Given the description of an element on the screen output the (x, y) to click on. 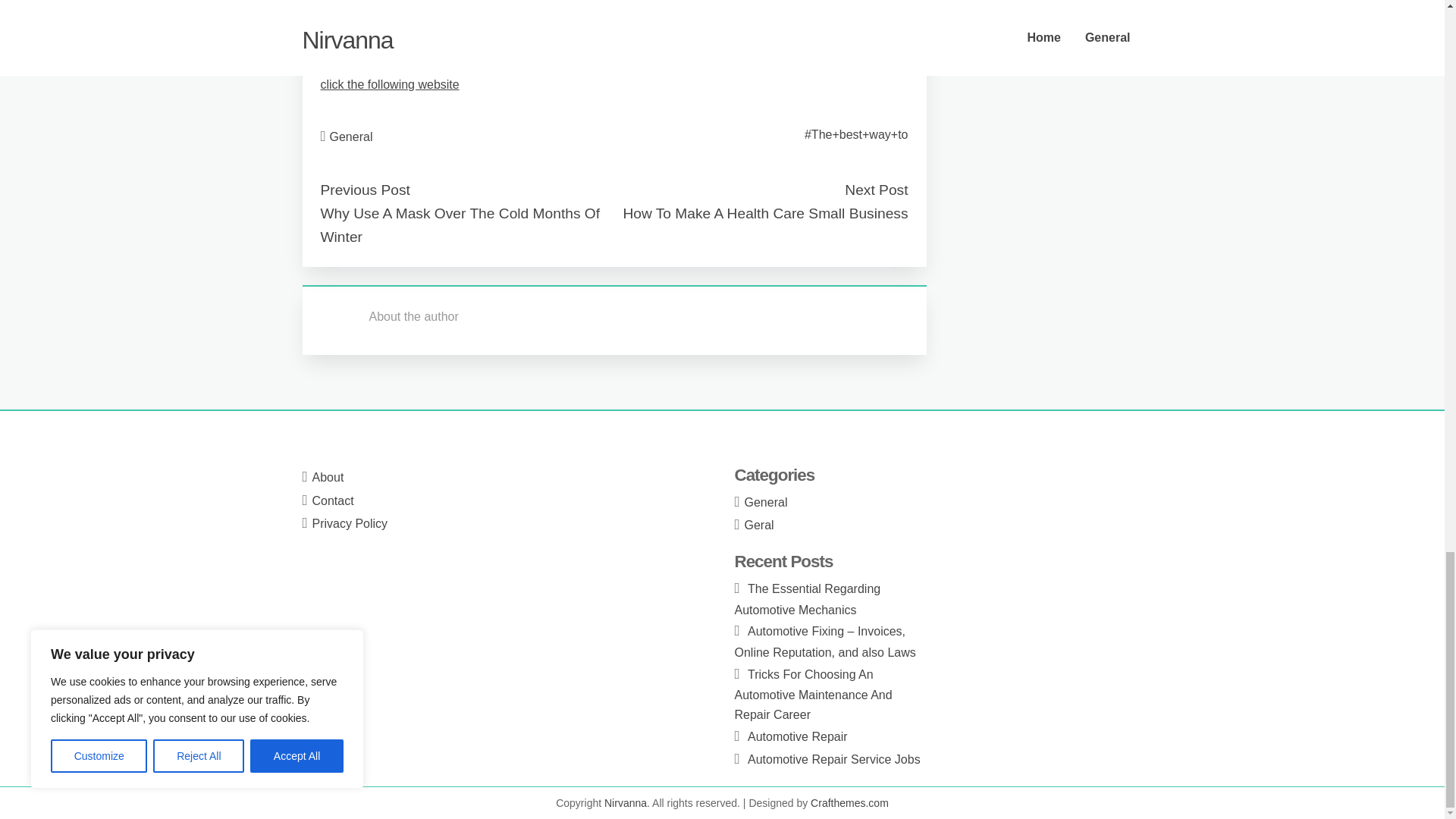
click the following website (389, 83)
How To Make A Health Care Small Business (765, 213)
Next Post (875, 189)
Why Use A Mask Over The Cold Months Of Winter (459, 224)
browse this site (361, 45)
Previous Post (364, 189)
General (351, 136)
